Given the description of an element on the screen output the (x, y) to click on. 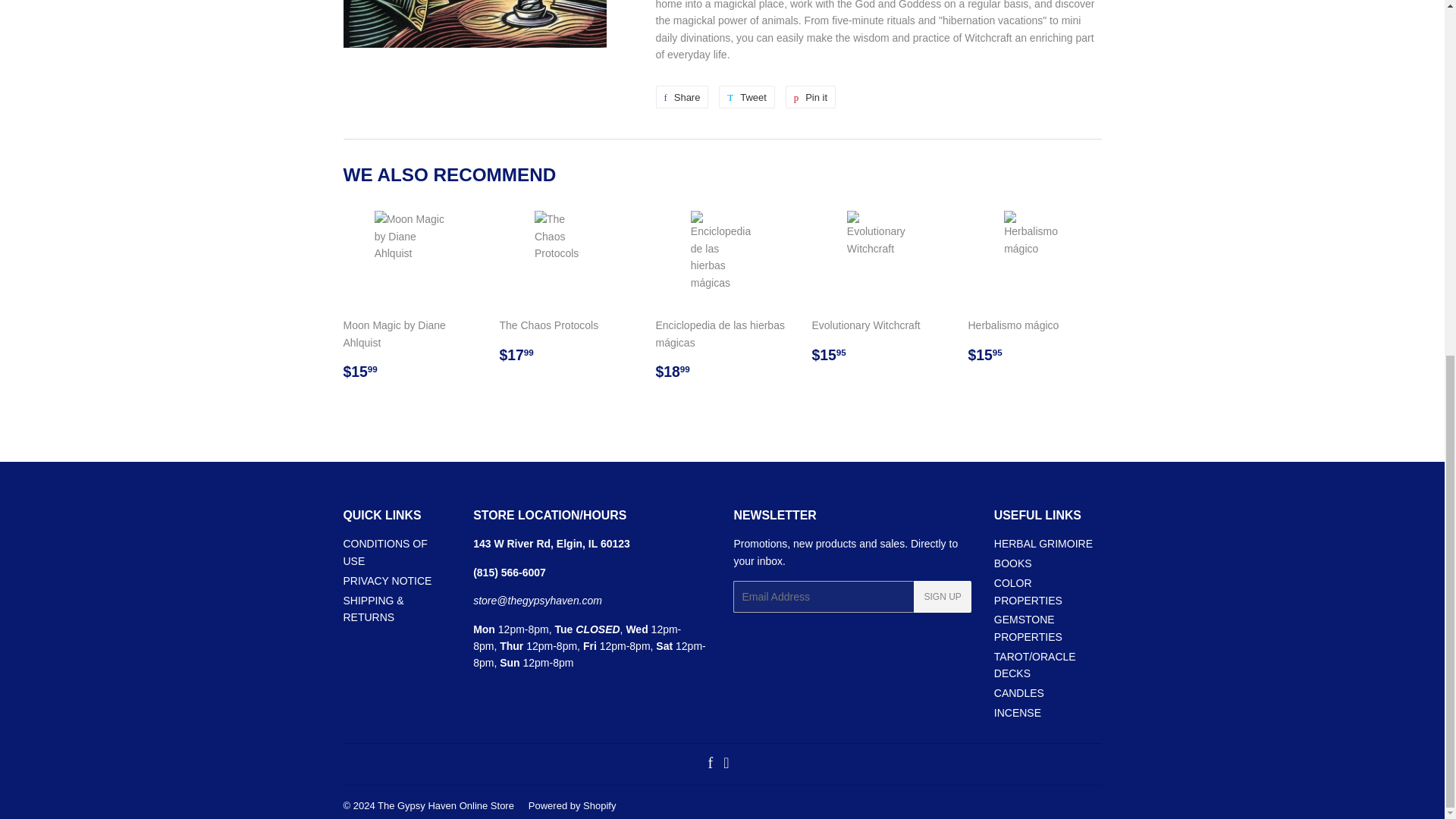
Tweet on Twitter (810, 96)
Pin on Pinterest (746, 96)
Share on Facebook (681, 96)
